Given the description of an element on the screen output the (x, y) to click on. 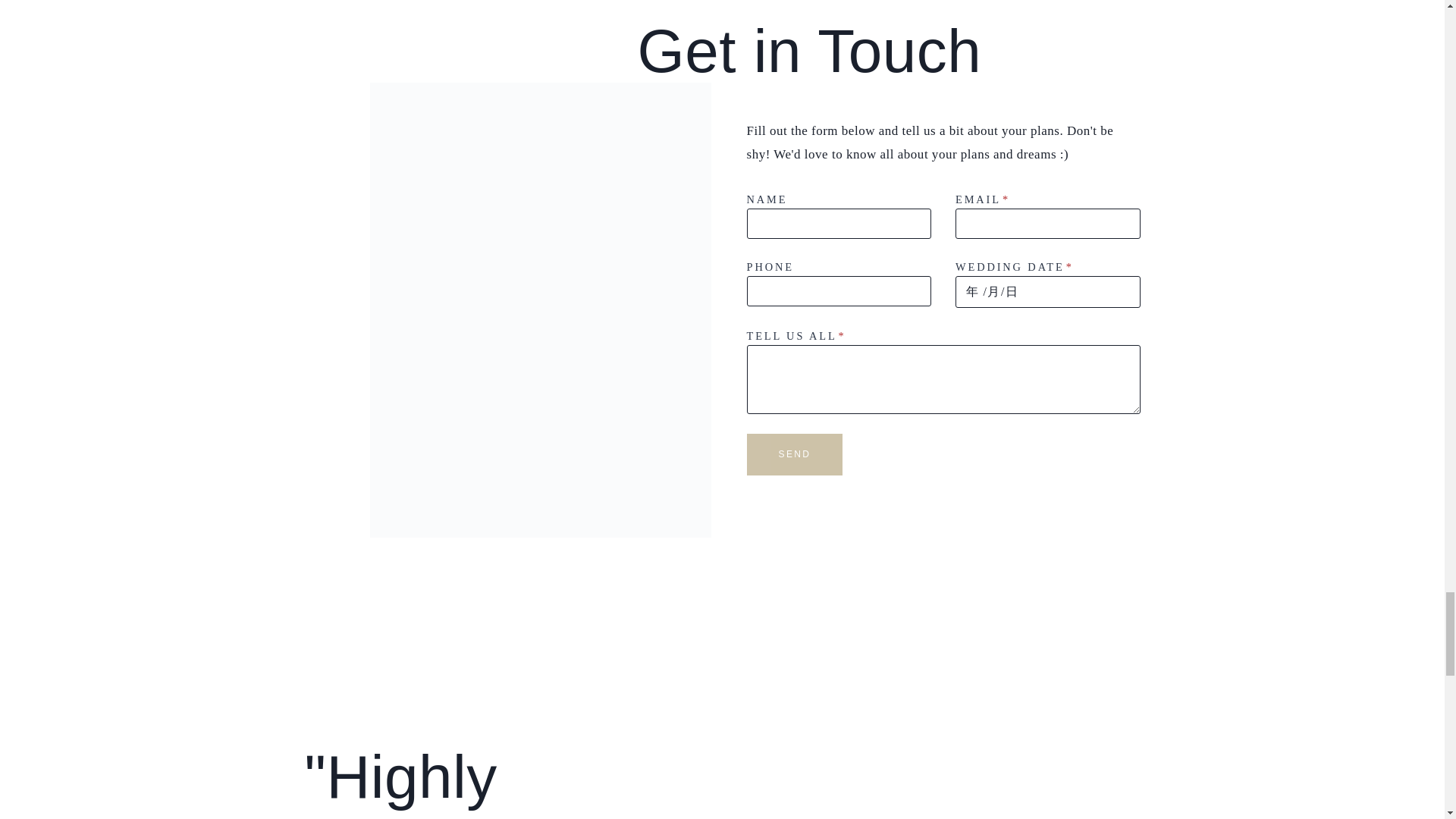
SEND (794, 454)
